Given the description of an element on the screen output the (x, y) to click on. 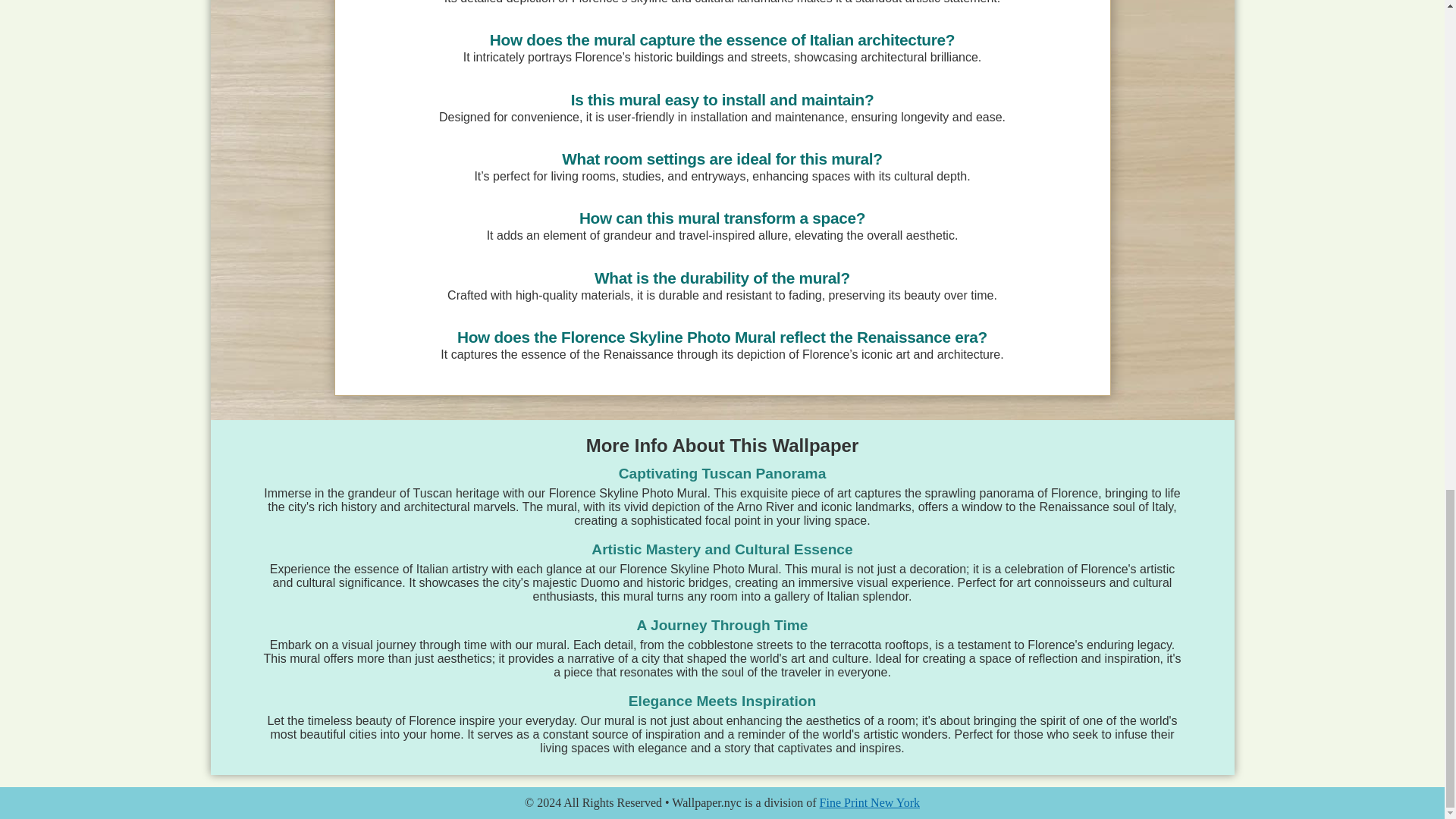
Fine Print New York (869, 802)
